Given the description of an element on the screen output the (x, y) to click on. 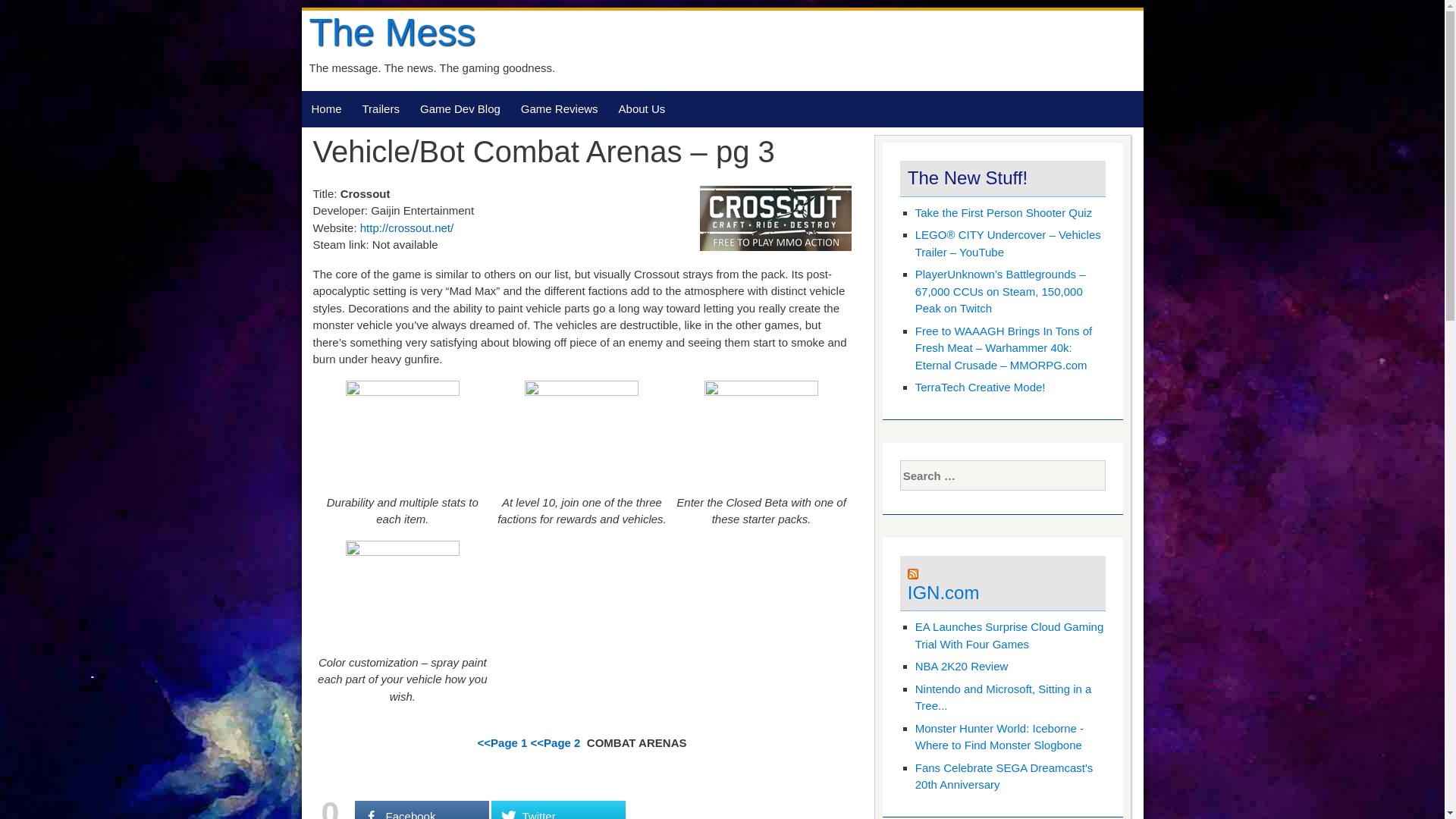
Home (326, 108)
Trailers (380, 108)
Search (24, 15)
The Mess (392, 32)
Game Dev Blog (460, 108)
Game Reviews (559, 108)
About Us (641, 108)
Facebook (422, 809)
Twitter (559, 809)
